Given the description of an element on the screen output the (x, y) to click on. 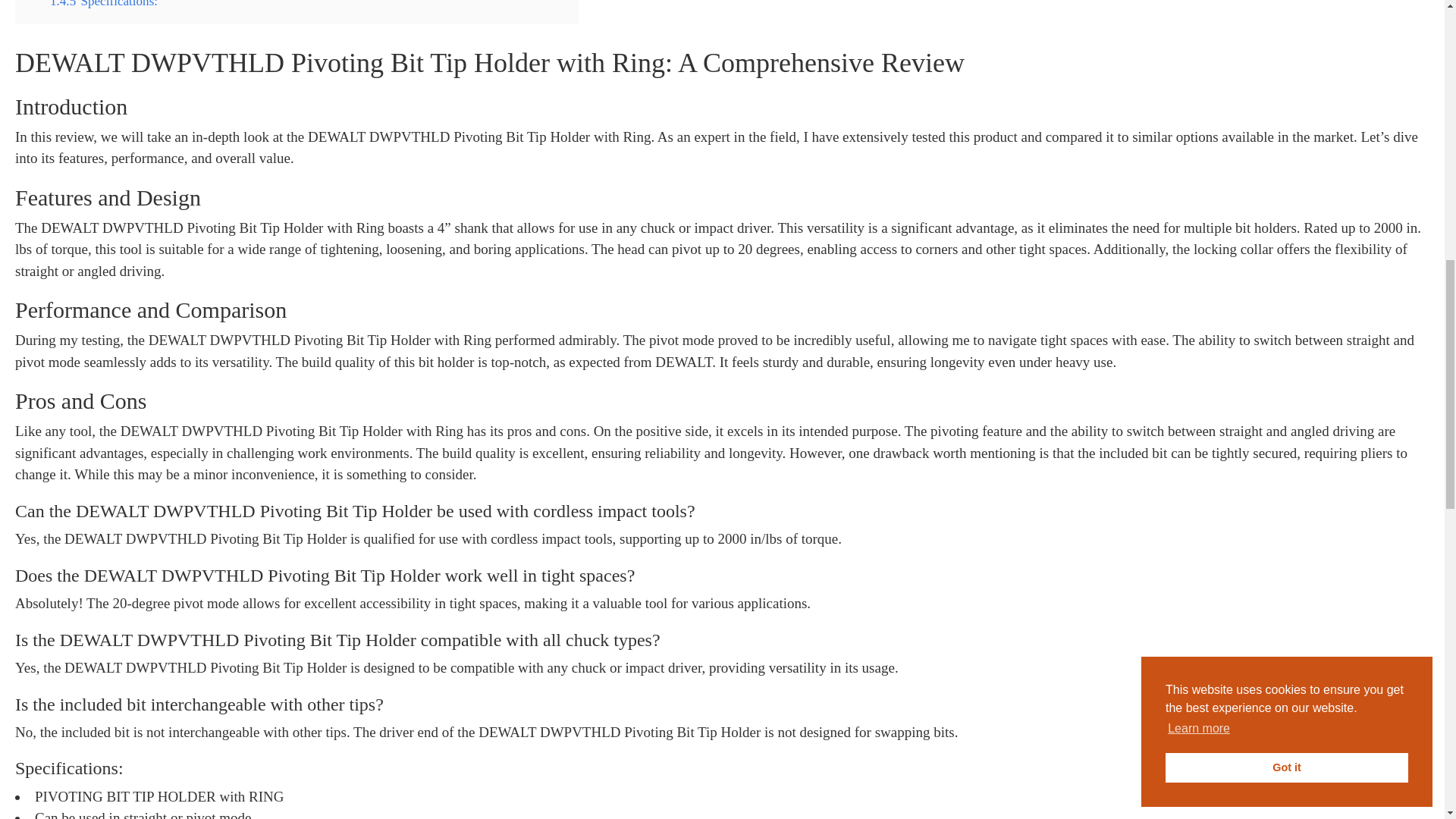
1.4.5 Specifications: (103, 4)
